Given the description of an element on the screen output the (x, y) to click on. 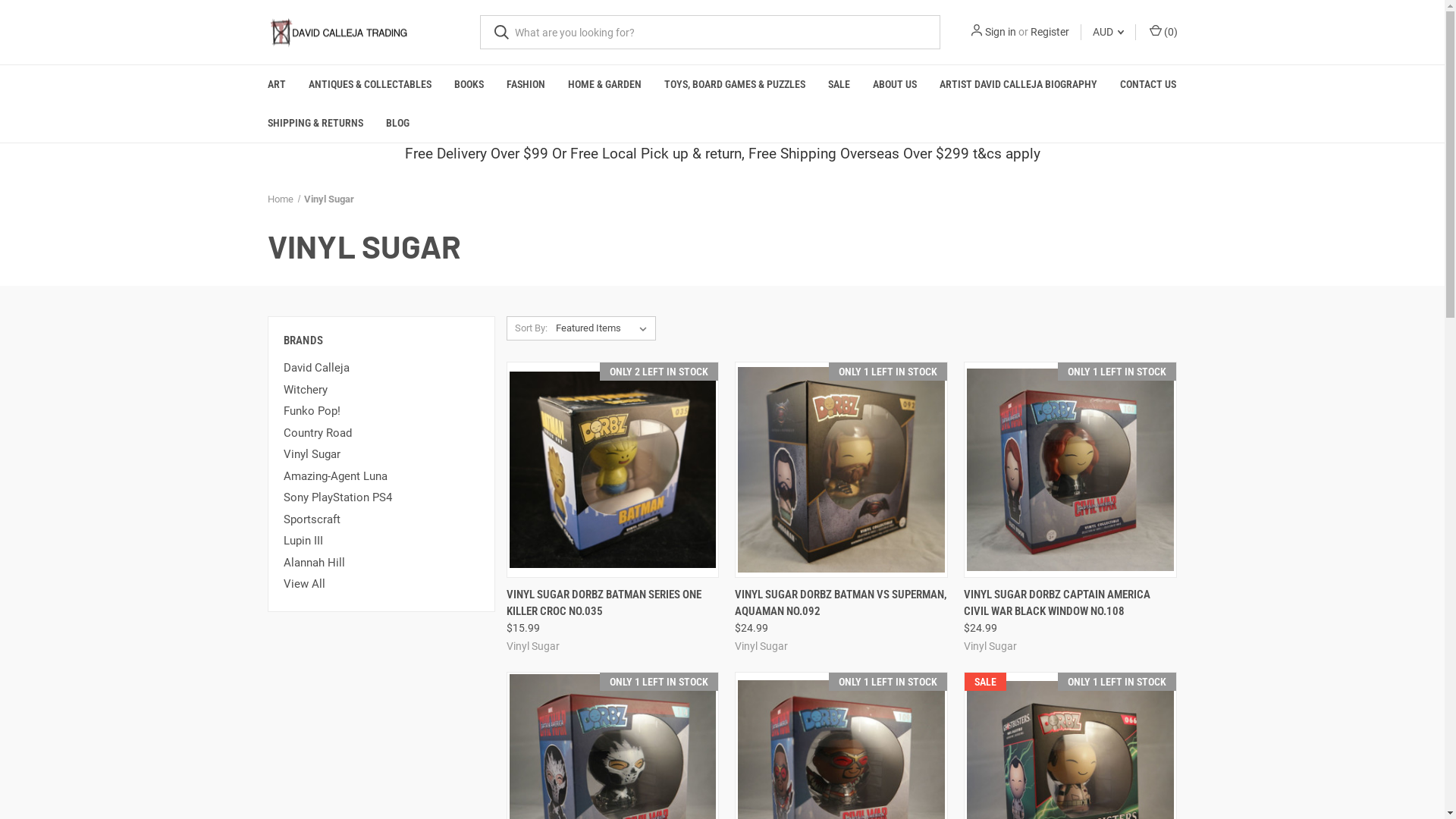
FASHION Element type: text (524, 84)
SALE Element type: text (837, 84)
Lupin III Element type: text (381, 541)
(0) Element type: text (1161, 32)
BOOKS Element type: text (468, 84)
Sportscraft Element type: text (381, 519)
ART Element type: text (276, 84)
Vinyl Sugar Element type: text (381, 454)
Alannah Hill Element type: text (381, 563)
TOYS, BOARD GAMES & PUZZLES Element type: text (733, 84)
SHIPPING & RETURNS Element type: text (315, 122)
VINYL SUGAR DORBZ BATMAN SERIES ONE KILLER CROC NO.035 Element type: text (612, 603)
Amazing-Agent Luna Element type: text (381, 476)
BLOG Element type: text (397, 122)
David Calleja Trading Element type: hover (337, 32)
AUD Element type: text (1108, 32)
Funko Pop! Element type: text (381, 411)
Witchery Element type: text (381, 390)
QUICK VIEW Element type: text (786, 589)
David Calleja Element type: text (381, 368)
Home Element type: text (279, 197)
HOME & GARDEN Element type: text (604, 84)
View All Element type: text (381, 584)
QUICK VIEW Element type: text (1015, 589)
Register Element type: text (1048, 32)
ANTIQUES & COLLECTABLES Element type: text (369, 84)
Sony PlayStation PS4 Element type: text (381, 497)
ARTIST DAVID CALLEJA BIOGRAPHY Element type: text (1018, 84)
QUICK VIEW Element type: text (557, 589)
Vinyl Sugar Element type: text (329, 197)
VINYL SUGAR DORBZ BATMAN VS SUPERMAN, AQUAMAN NO.092 Element type: text (840, 603)
CONTACT US Element type: text (1147, 84)
Sign in Element type: text (999, 32)
Country Road Element type: text (381, 433)
ABOUT US Element type: text (894, 84)
